Given the description of an element on the screen output the (x, y) to click on. 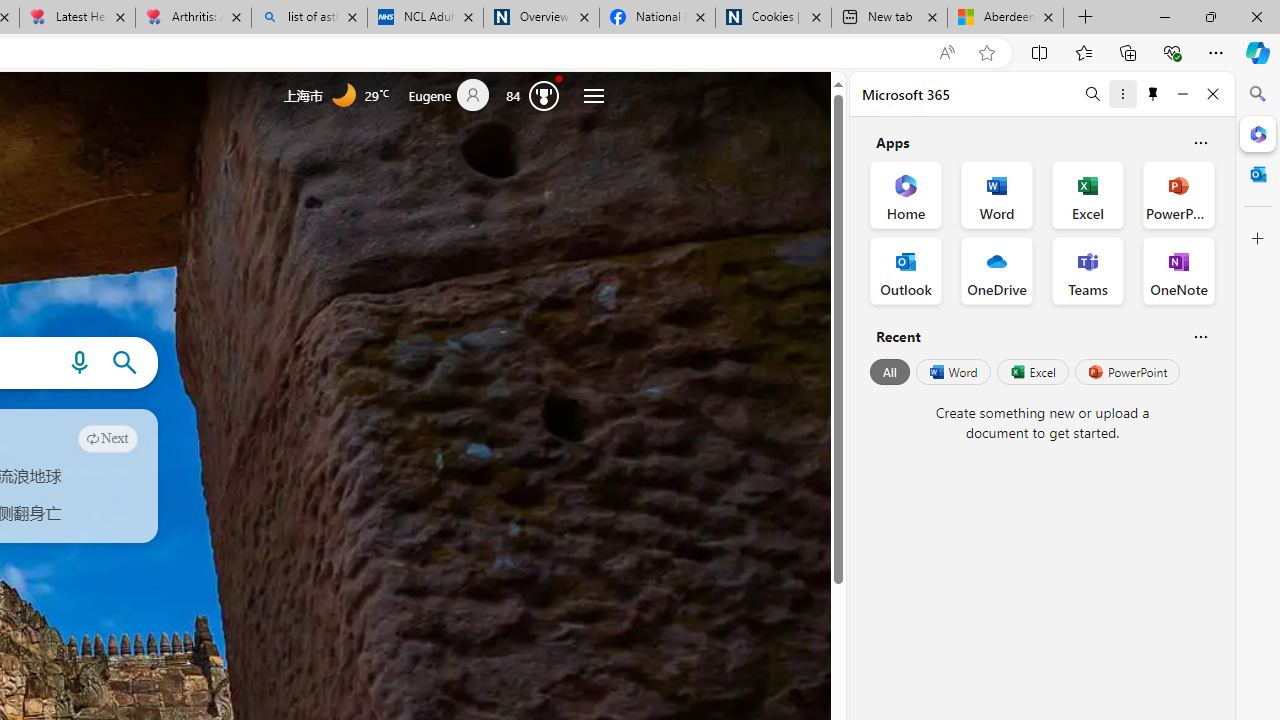
Eugene (457, 95)
Excel Office App (1087, 194)
Word (952, 372)
